Given the description of an element on the screen output the (x, y) to click on. 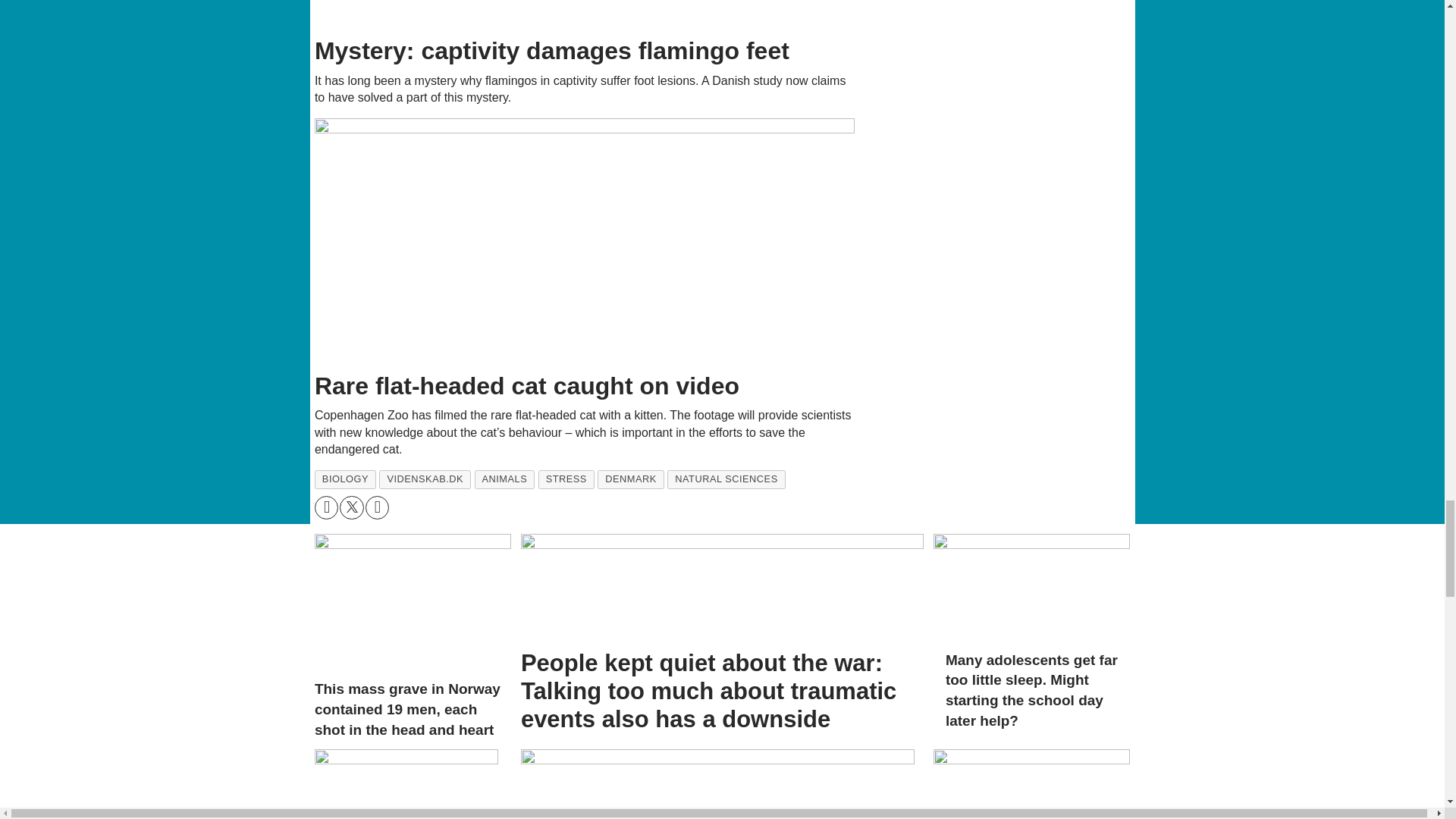
Rare flat-headed cat caught on video (585, 239)
STRESS (566, 479)
Mystery: captivity damages flamingo feet (585, 13)
BIOLOGY (344, 479)
VIDENSKAB.DK (424, 479)
